Given the description of an element on the screen output the (x, y) to click on. 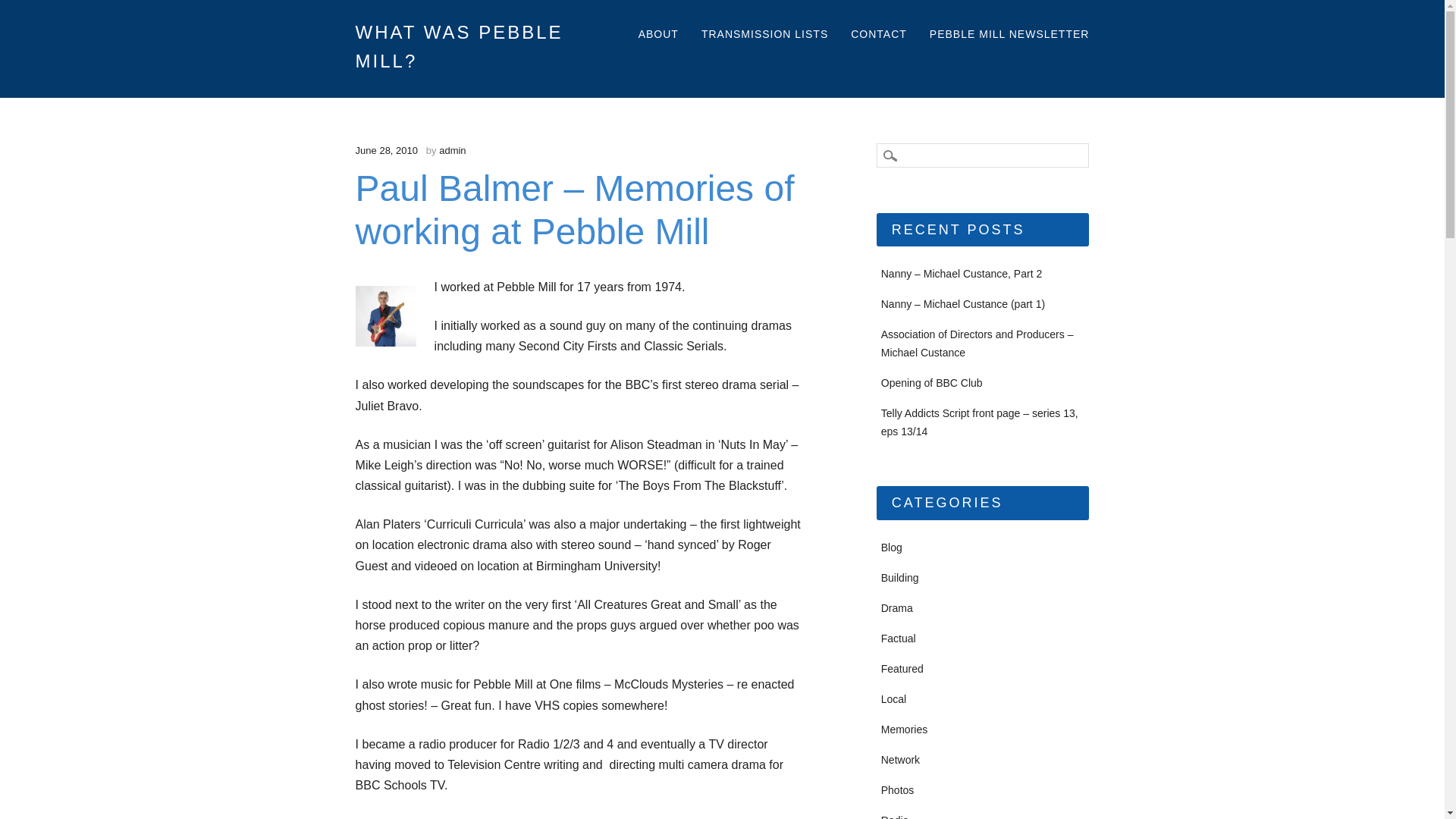
PEBBLE MILL NEWSLETTER (1009, 34)
WHAT WAS PEBBLE MILL? (459, 46)
Search (22, 8)
20:10 (386, 150)
admin (452, 150)
TRANSMISSION LISTS (764, 34)
What Was Pebble Mill? (459, 46)
June 28, 2010 (386, 150)
ABOUT (657, 34)
Paul Balmer (385, 315)
CONTACT (878, 34)
View all posts by admin (452, 150)
